Given the description of an element on the screen output the (x, y) to click on. 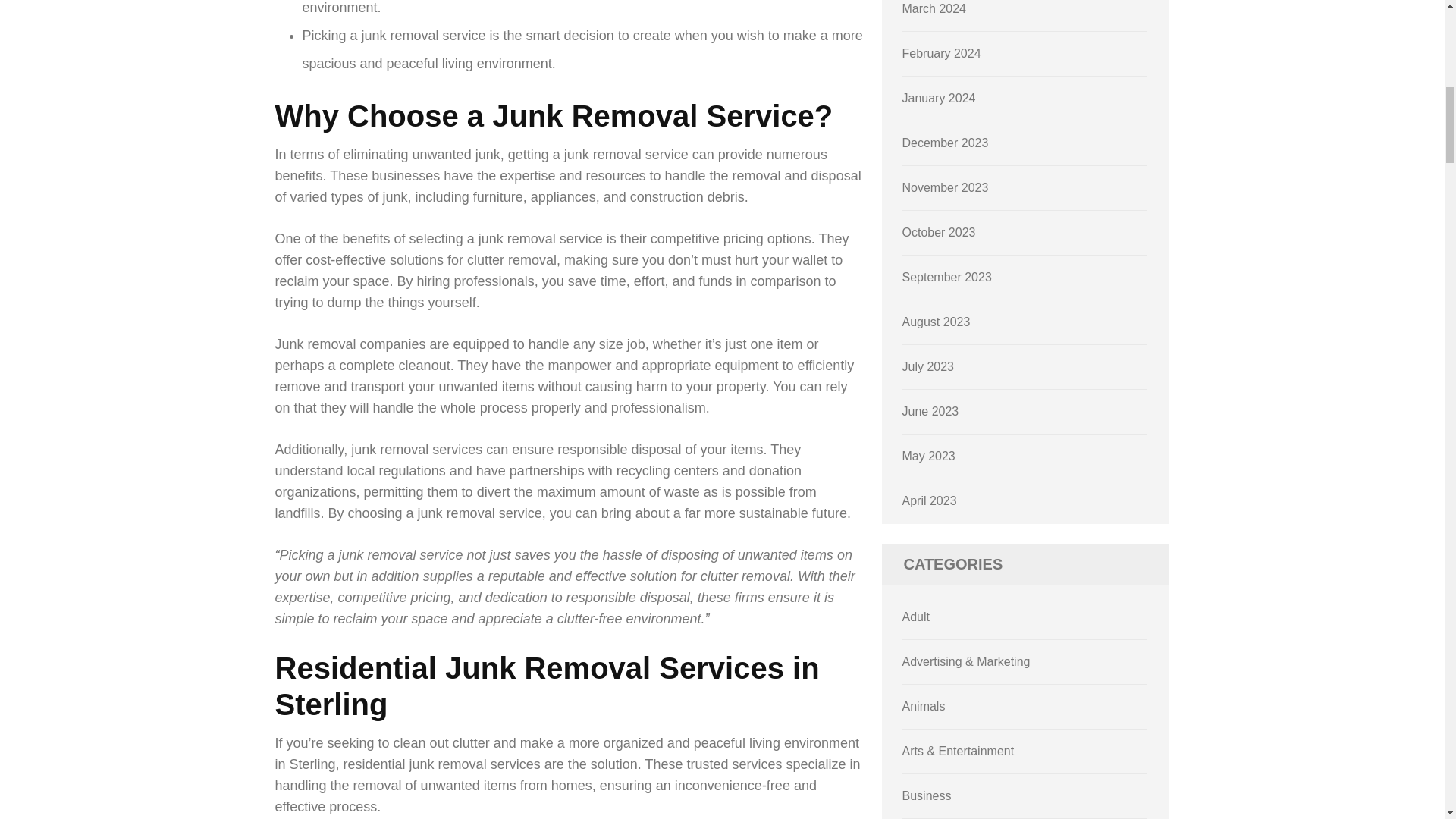
December 2023 (945, 142)
April 2023 (929, 500)
Animals (923, 706)
August 2023 (936, 321)
May 2023 (928, 455)
March 2024 (934, 8)
October 2023 (938, 232)
September 2023 (946, 277)
June 2023 (930, 410)
November 2023 (945, 187)
January 2024 (938, 97)
Adult (916, 616)
February 2024 (941, 52)
July 2023 (928, 366)
